Given the description of an element on the screen output the (x, y) to click on. 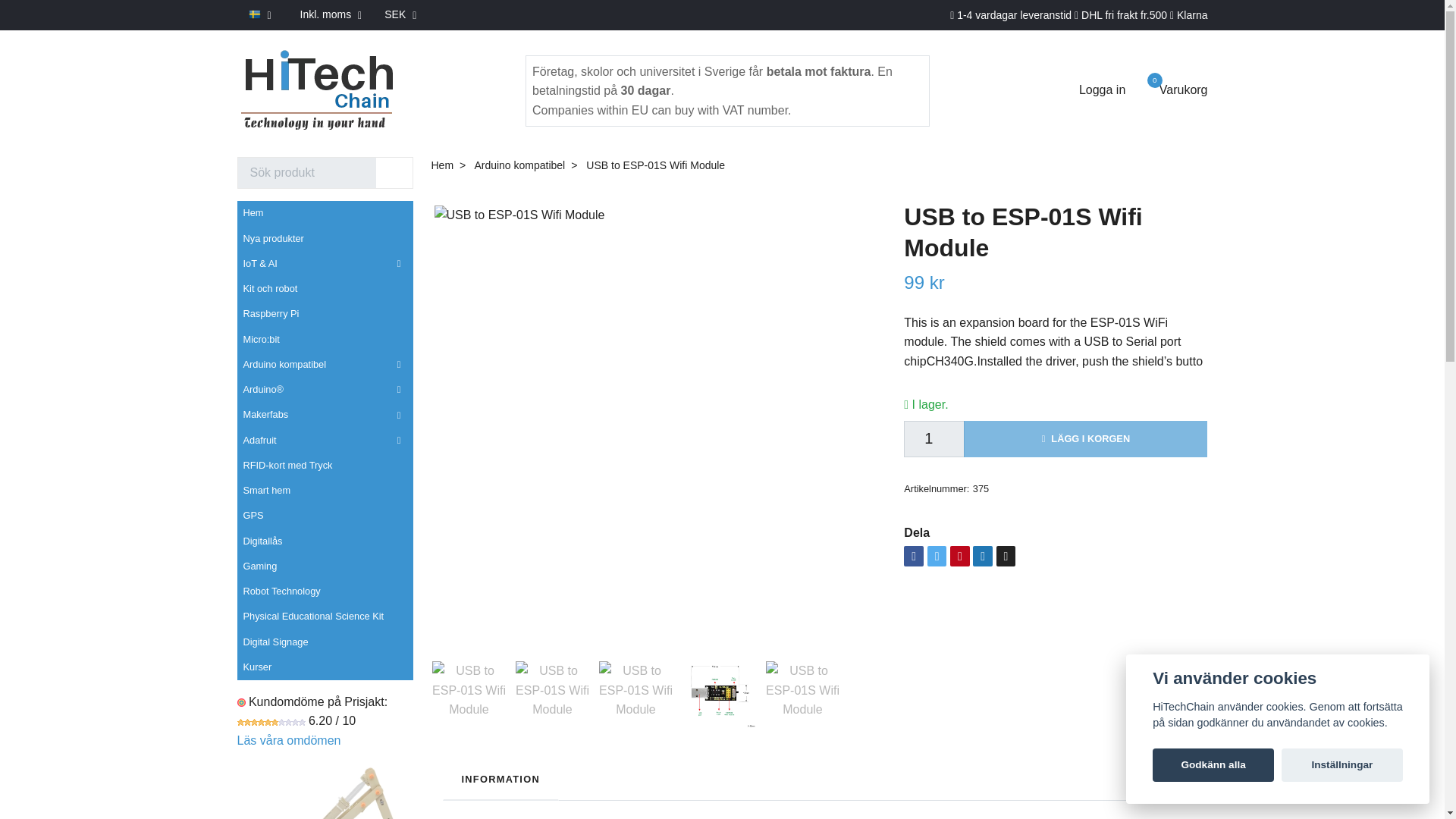
Inkl. moms (330, 14)
Logga in (1093, 89)
SEK (1174, 89)
HiTechChain (400, 14)
1 (314, 90)
